Given the description of an element on the screen output the (x, y) to click on. 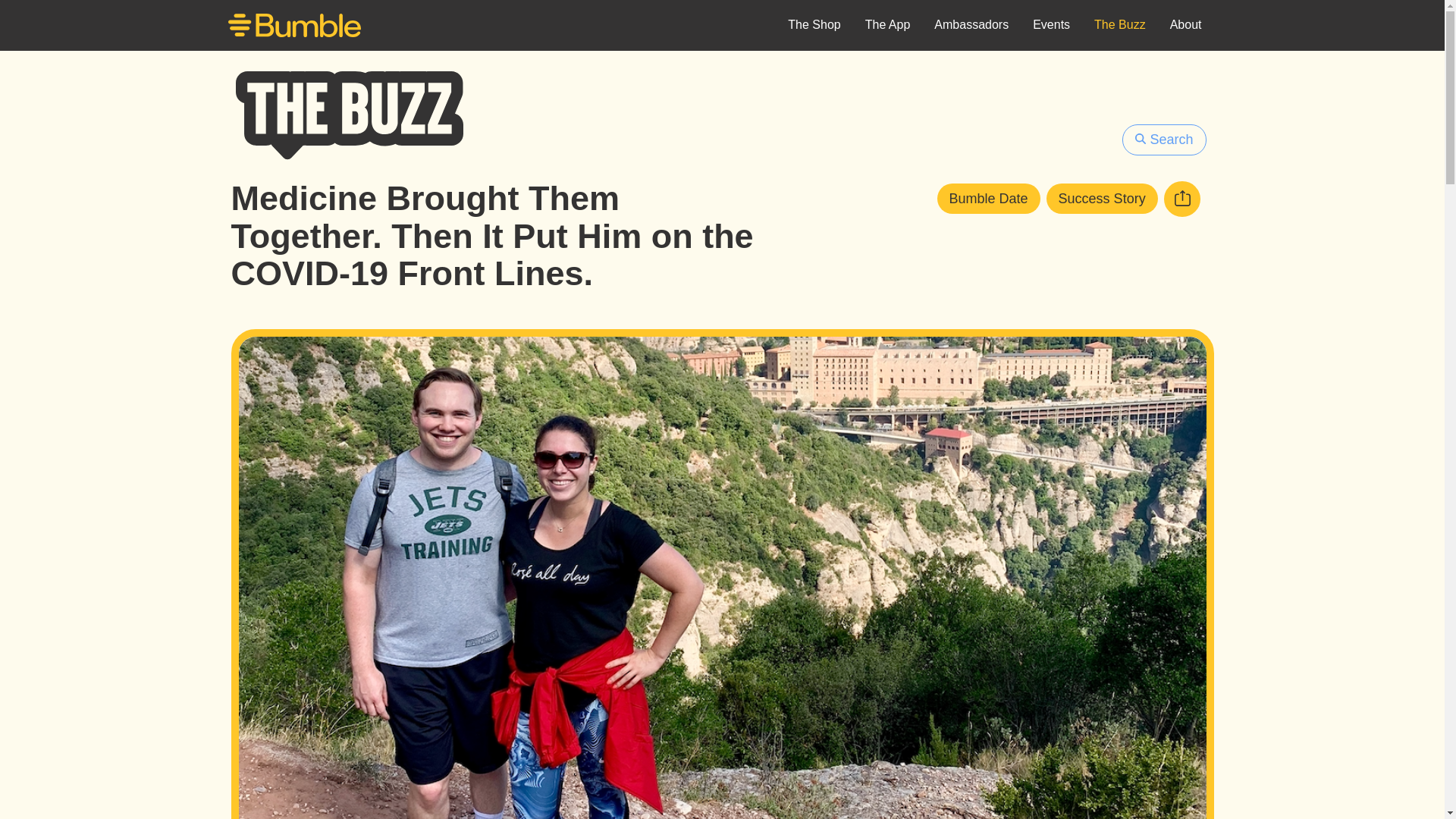
The Buzz (1119, 25)
The Shop (813, 25)
Ambassadors (970, 25)
Bumble (293, 27)
About (1185, 25)
Search (1163, 139)
Events (1050, 25)
The App (888, 25)
